Given the description of an element on the screen output the (x, y) to click on. 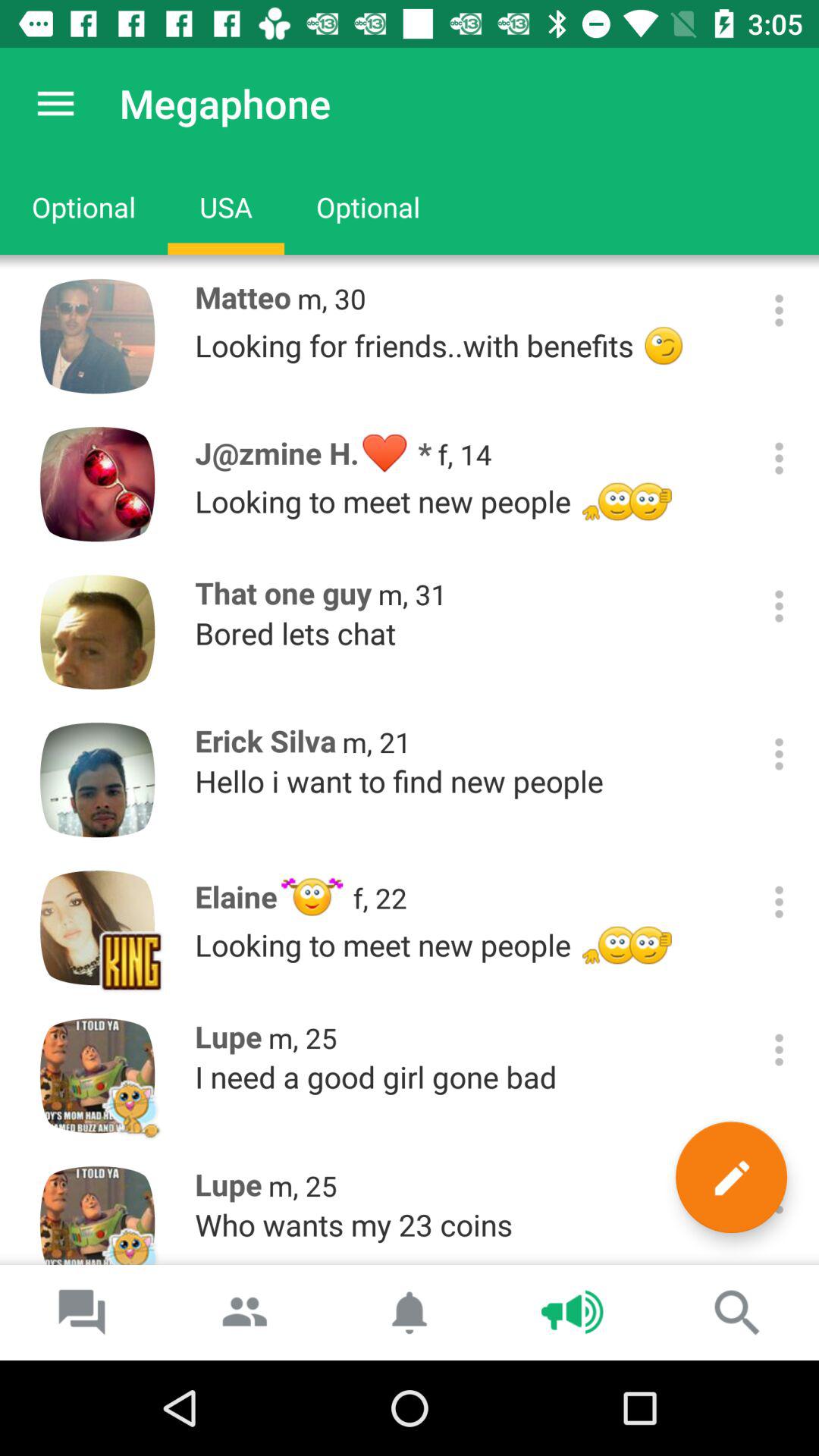
asking to see options (779, 458)
